Given the description of an element on the screen output the (x, y) to click on. 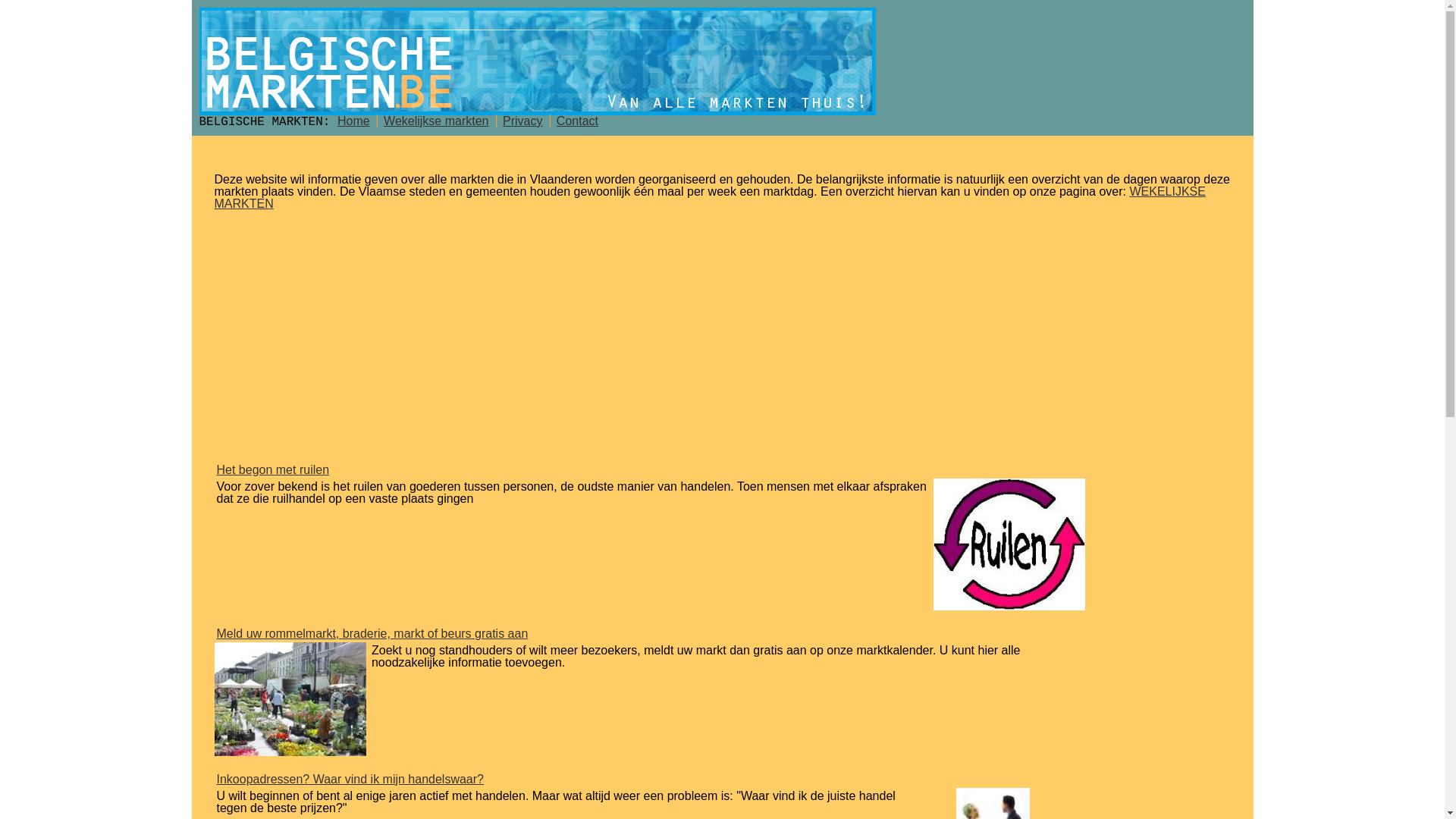
Contact Element type: text (577, 120)
Advertisement Element type: hover (721, 335)
Het begon met ruilen Element type: text (722, 470)
Wekelijkse markten Element type: text (435, 120)
WEKELIJKSE MARKTEN Element type: text (708, 197)
Inkoopadressen? Waar vind ik mijn handelswaar? Element type: text (722, 779)
Meld uw rommelmarkt, braderie, markt of beurs gratis aan Element type: text (722, 633)
Privacy Element type: text (522, 120)
Home Element type: text (353, 120)
